Given the description of an element on the screen output the (x, y) to click on. 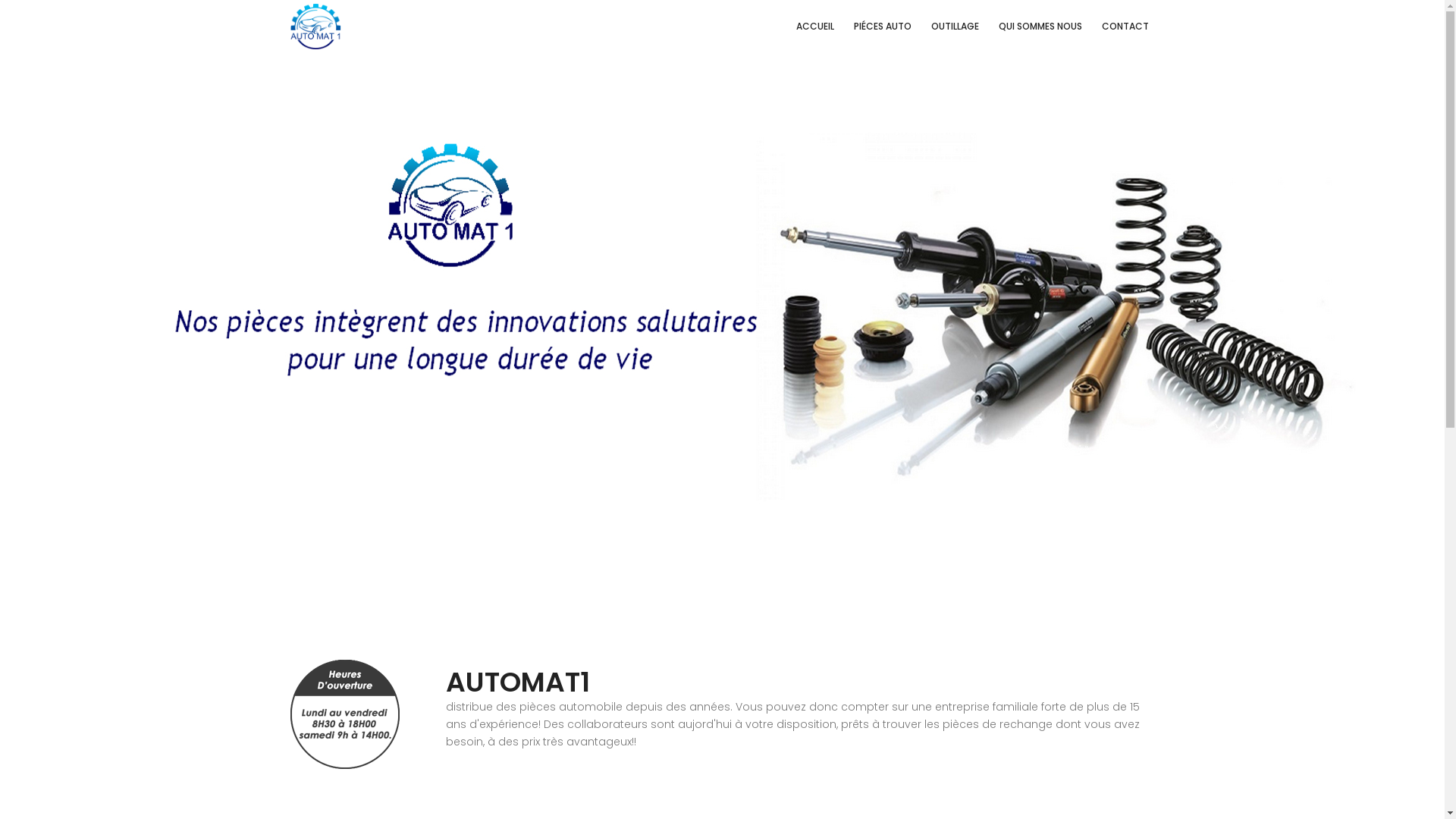
CONTACT Element type: text (1124, 26)
QUI SOMMES NOUS Element type: text (1039, 26)
OUTILLAGE Element type: text (955, 26)
ACCUEIL Element type: text (815, 26)
